Given the description of an element on the screen output the (x, y) to click on. 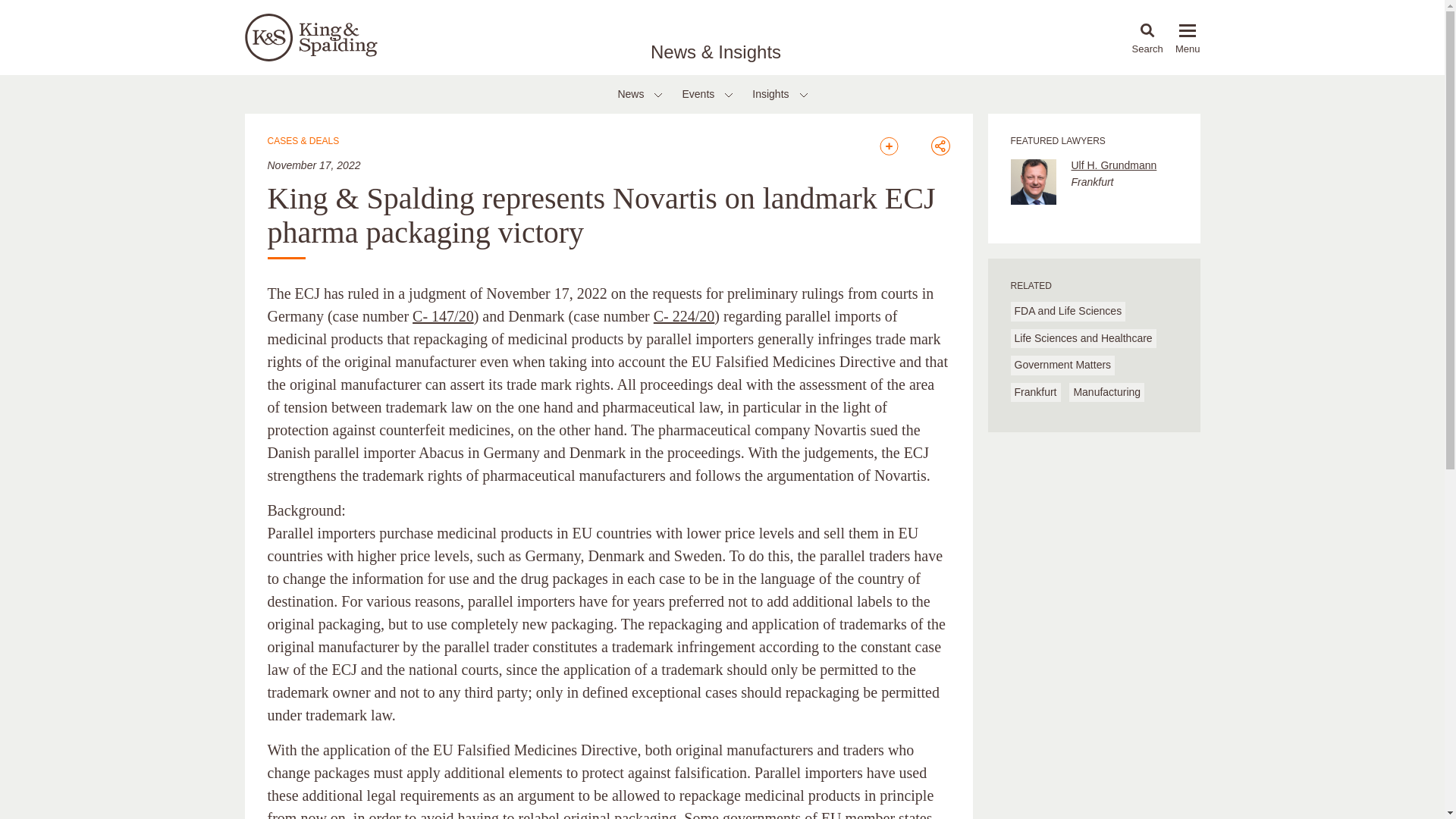
toggle menu (1187, 29)
